Given the description of an element on the screen output the (x, y) to click on. 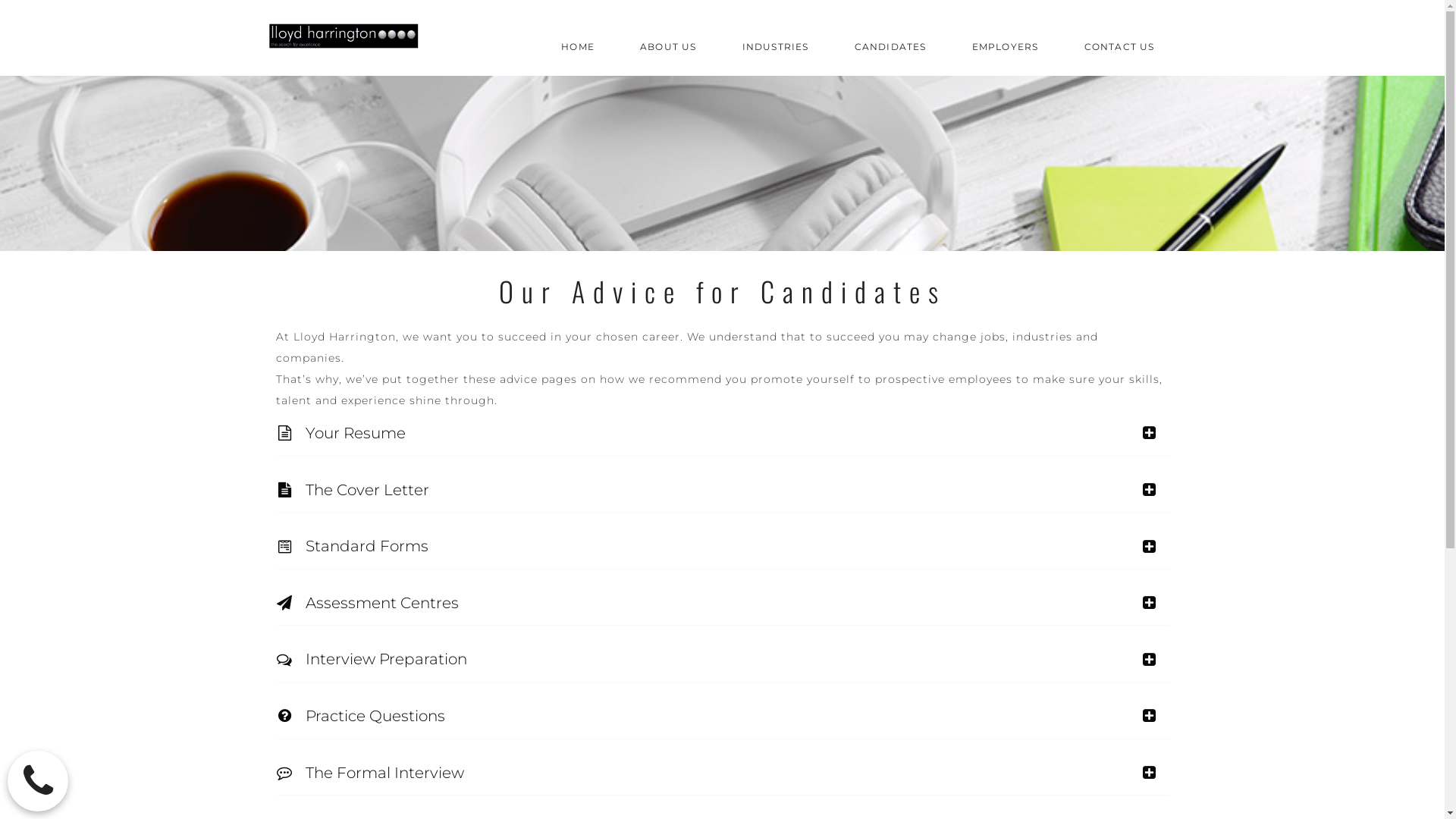
EMPLOYERS Element type: text (1005, 37)
CONTACT US Element type: text (1119, 37)
ABOUT US Element type: text (668, 37)
CANDIDATES Element type: text (890, 37)
INDUSTRIES Element type: text (775, 37)
HOME Element type: text (577, 37)
